Given the description of an element on the screen output the (x, y) to click on. 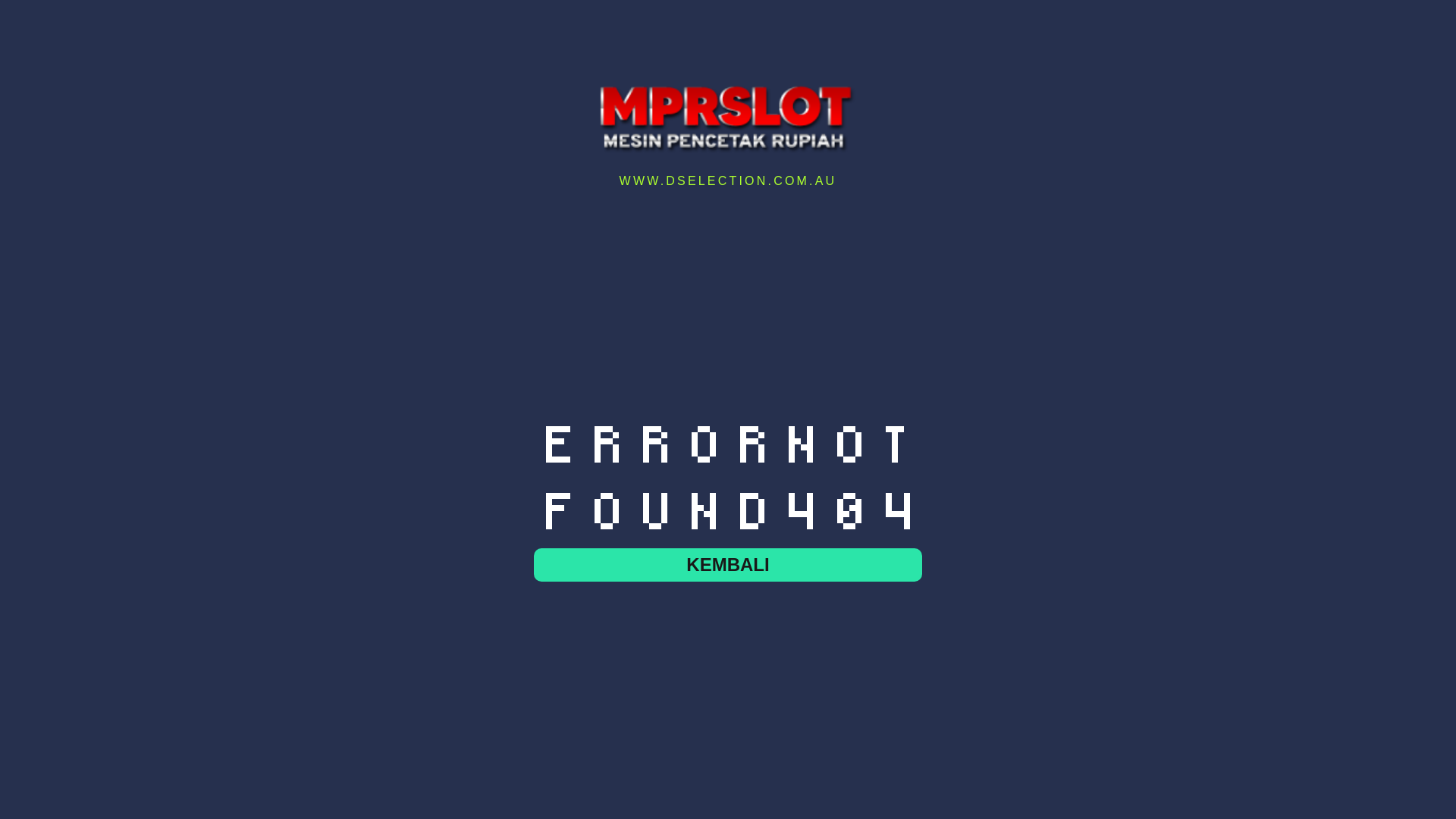
KEMBALI Element type: text (727, 564)
